Given the description of an element on the screen output the (x, y) to click on. 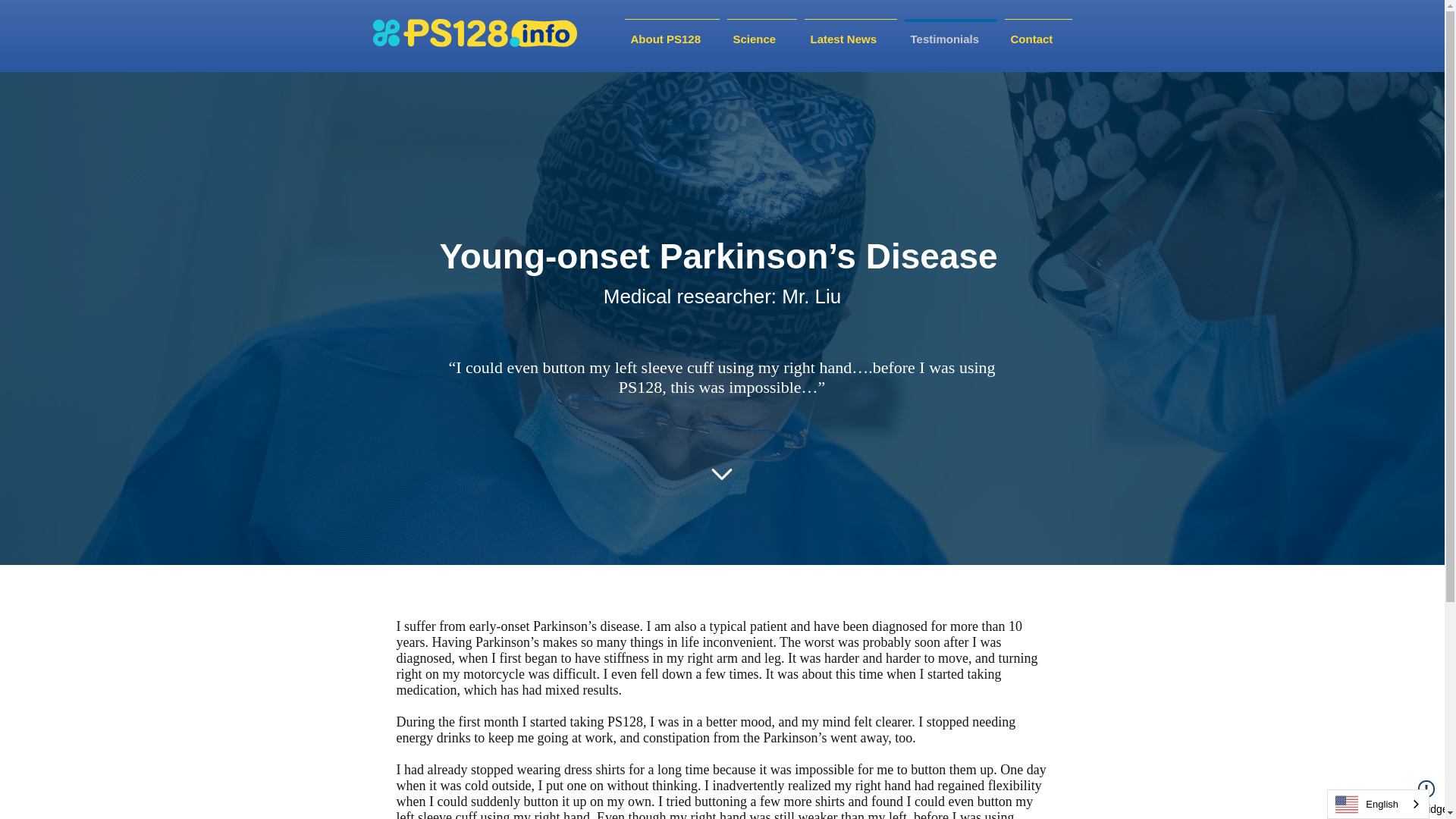
English (1377, 804)
Contact (1038, 31)
Science (761, 31)
Testimonials (951, 31)
About PS128 (671, 31)
Latest News (850, 31)
